Given the description of an element on the screen output the (x, y) to click on. 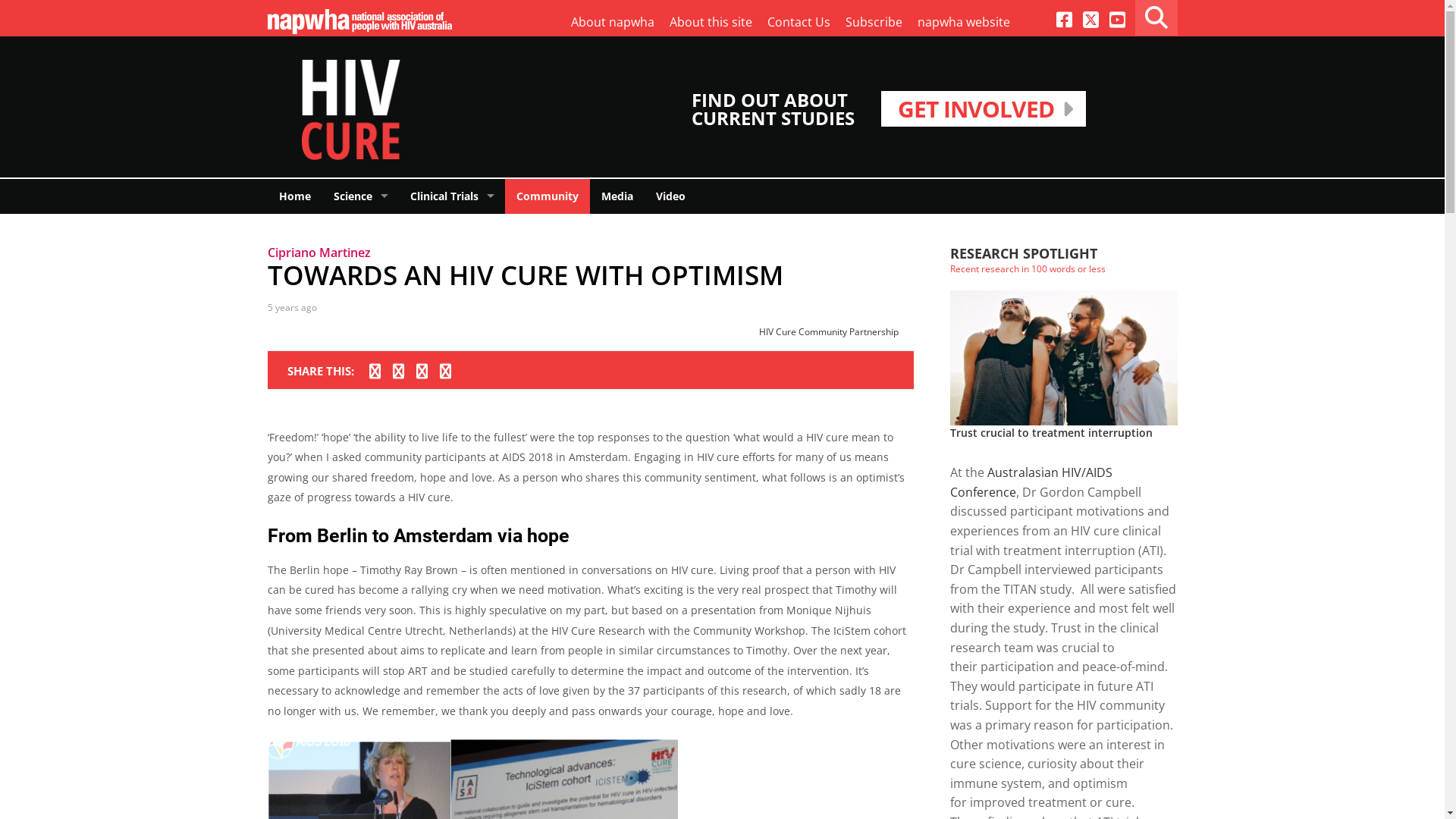
Science Element type: text (359, 195)
Contact Us Element type: text (798, 22)
Media Element type: text (616, 195)
HIV Cure Community Partnership Element type: text (827, 331)
Community Element type: text (547, 195)
Australasian HIV/AIDS Conference Element type: text (1030, 482)
GET INVOLVED Element type: text (983, 108)
Clinical Trials Element type: text (451, 195)
Video Element type: text (670, 195)
Trust crucial to treatment interruption Element type: text (1050, 432)
About napwha Element type: text (611, 22)
Home Element type: text (293, 195)
Subscribe Element type: text (873, 22)
napwha website Element type: text (963, 22)
About this site Element type: text (710, 22)
